Given the description of an element on the screen output the (x, y) to click on. 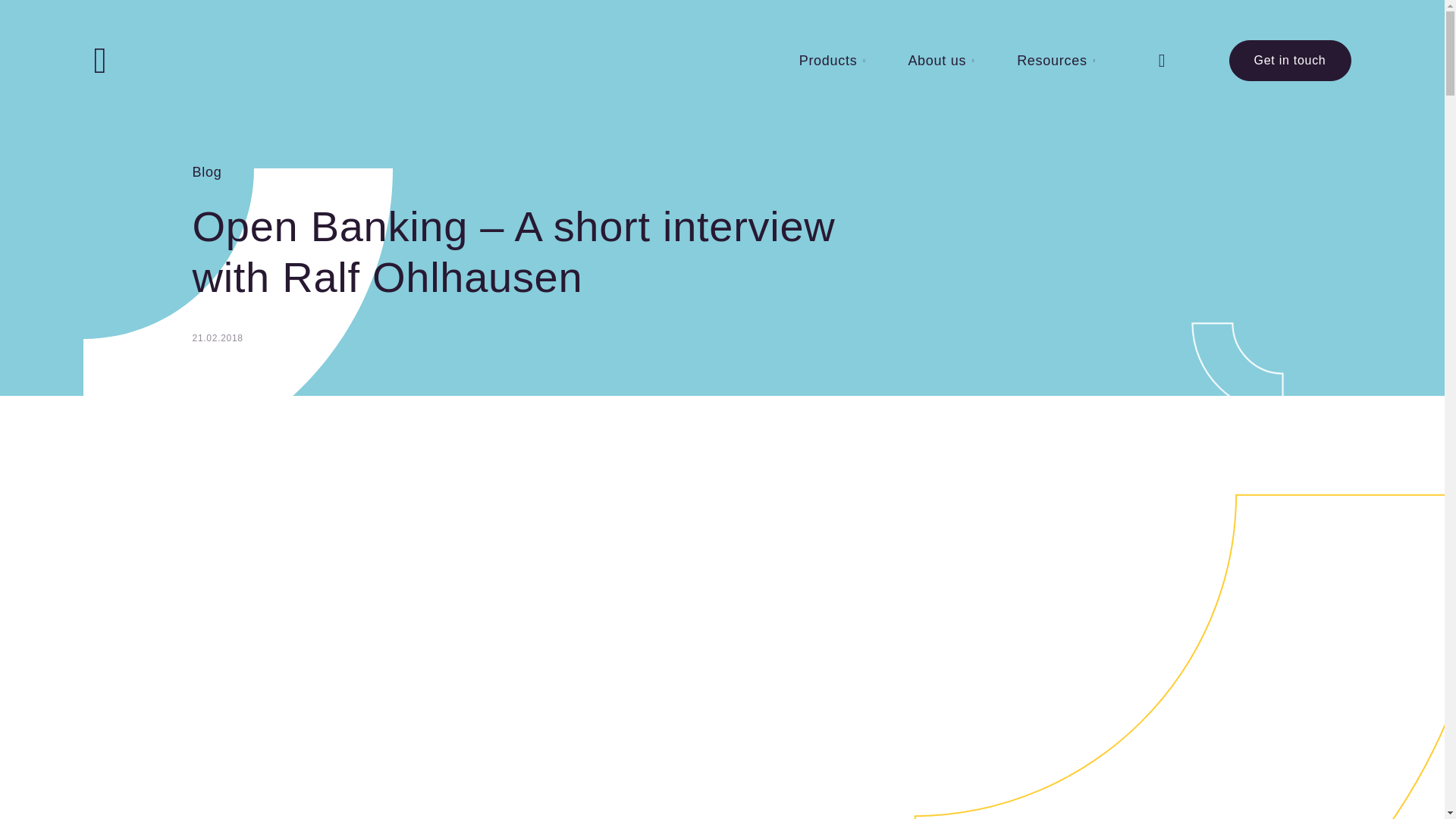
Resources (1055, 59)
About us (940, 59)
Products (832, 59)
Get in touch (1289, 60)
Search (1162, 60)
